Given the description of an element on the screen output the (x, y) to click on. 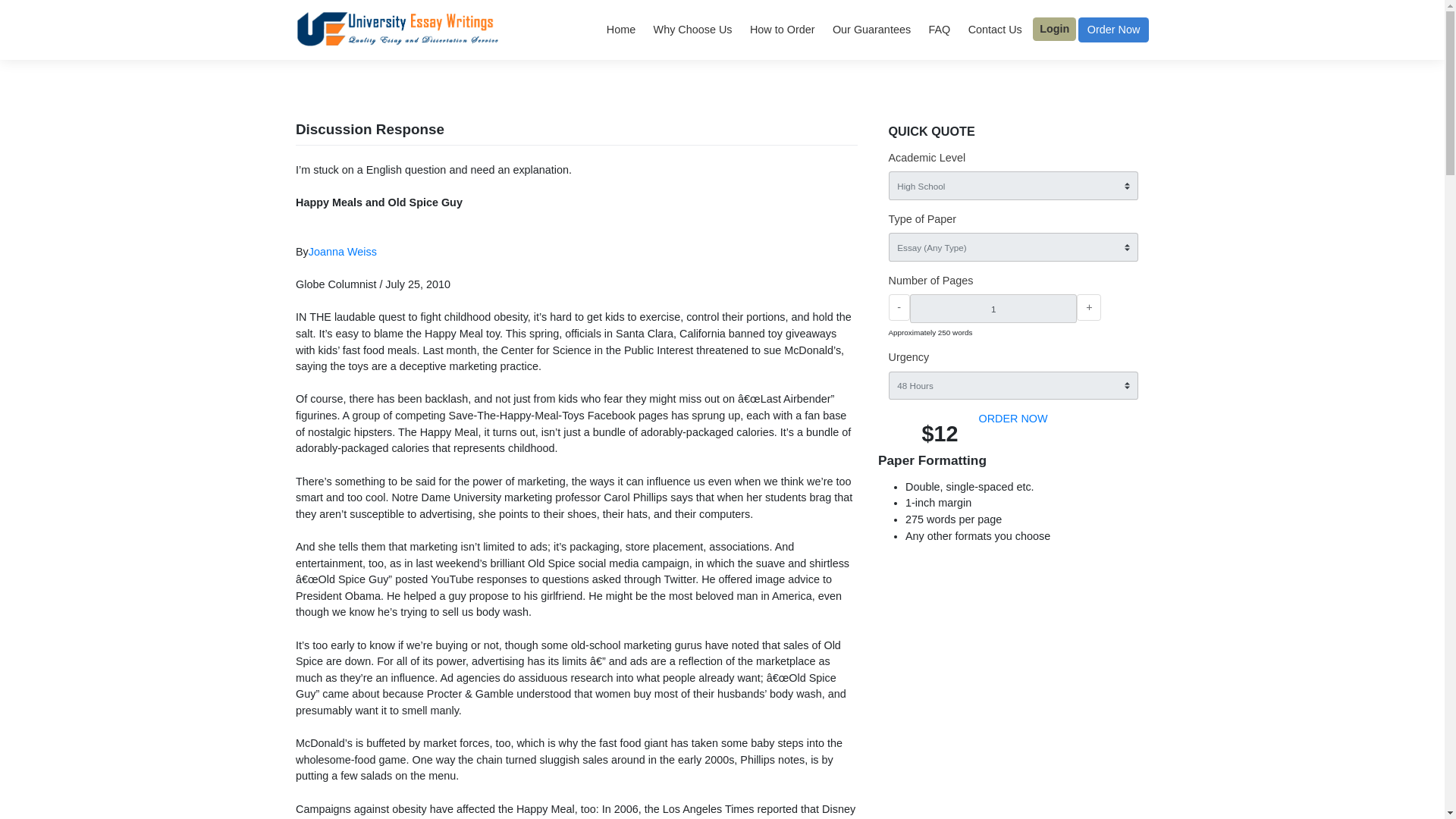
How to Order (869, 32)
How to Order (869, 32)
Order Now (1237, 32)
Order Now (1237, 32)
Login (1172, 32)
Contact Us (1104, 32)
FAQ (1043, 32)
Our Guarantees (968, 32)
FAQ (1043, 32)
Why Choose Us (769, 32)
